Given the description of an element on the screen output the (x, y) to click on. 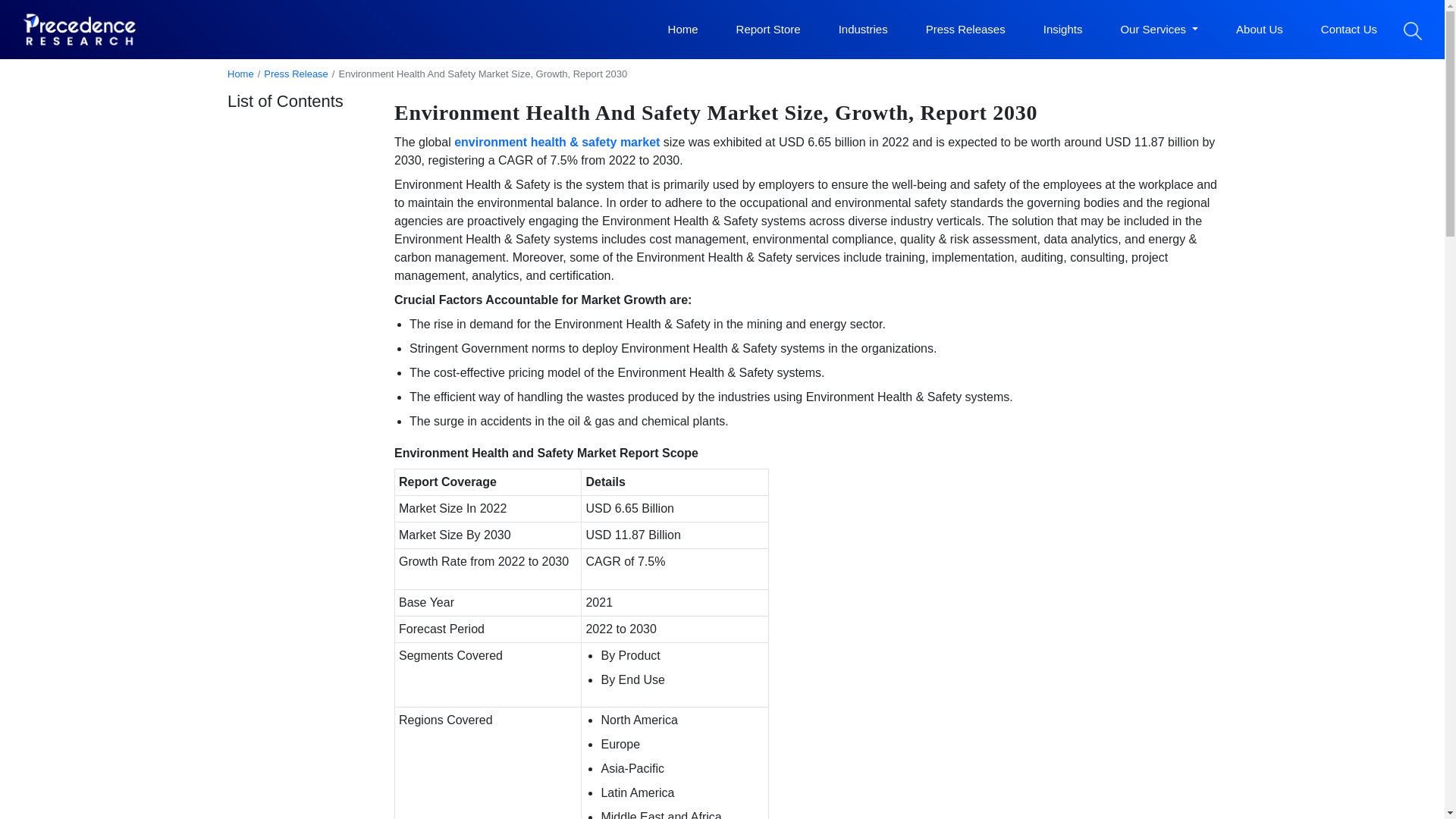
Press Releases (966, 29)
Industries (863, 29)
Our Services (1158, 29)
Insights (1063, 29)
Precedence Research (79, 29)
About Us (1259, 29)
Contact Us (1348, 29)
Home (683, 29)
Report Store (768, 29)
